Given the description of an element on the screen output the (x, y) to click on. 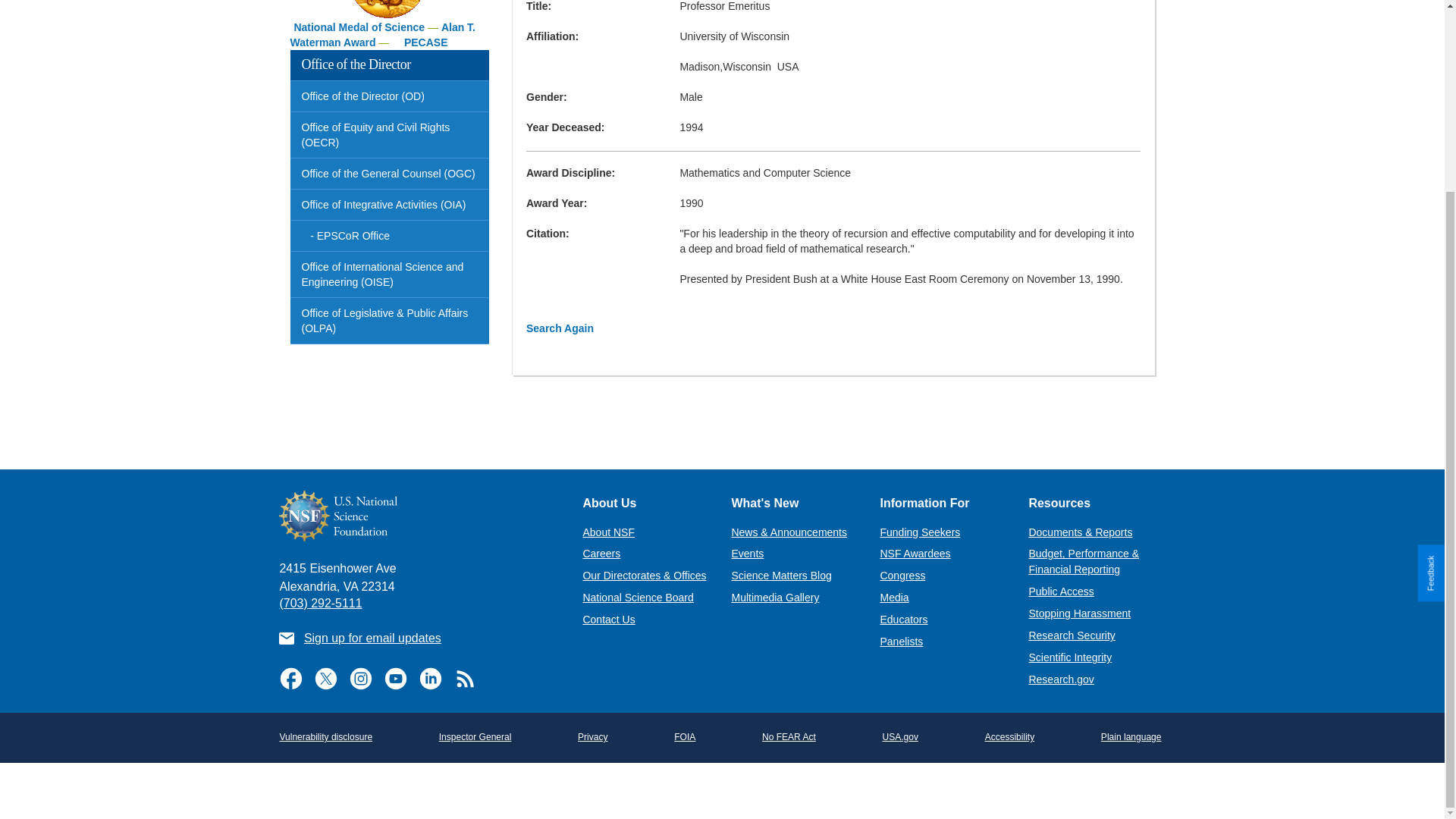
National Medal of Science (359, 27)
PECASE (426, 42)
About NSF (607, 532)
Search Again (559, 328)
Alan T. Waterman Award (382, 34)
Careers (601, 553)
NSF - National Science Foundation - Home (418, 515)
Sign up for email updates (372, 637)
   - EPSCoR Office (389, 235)
